Given the description of an element on the screen output the (x, y) to click on. 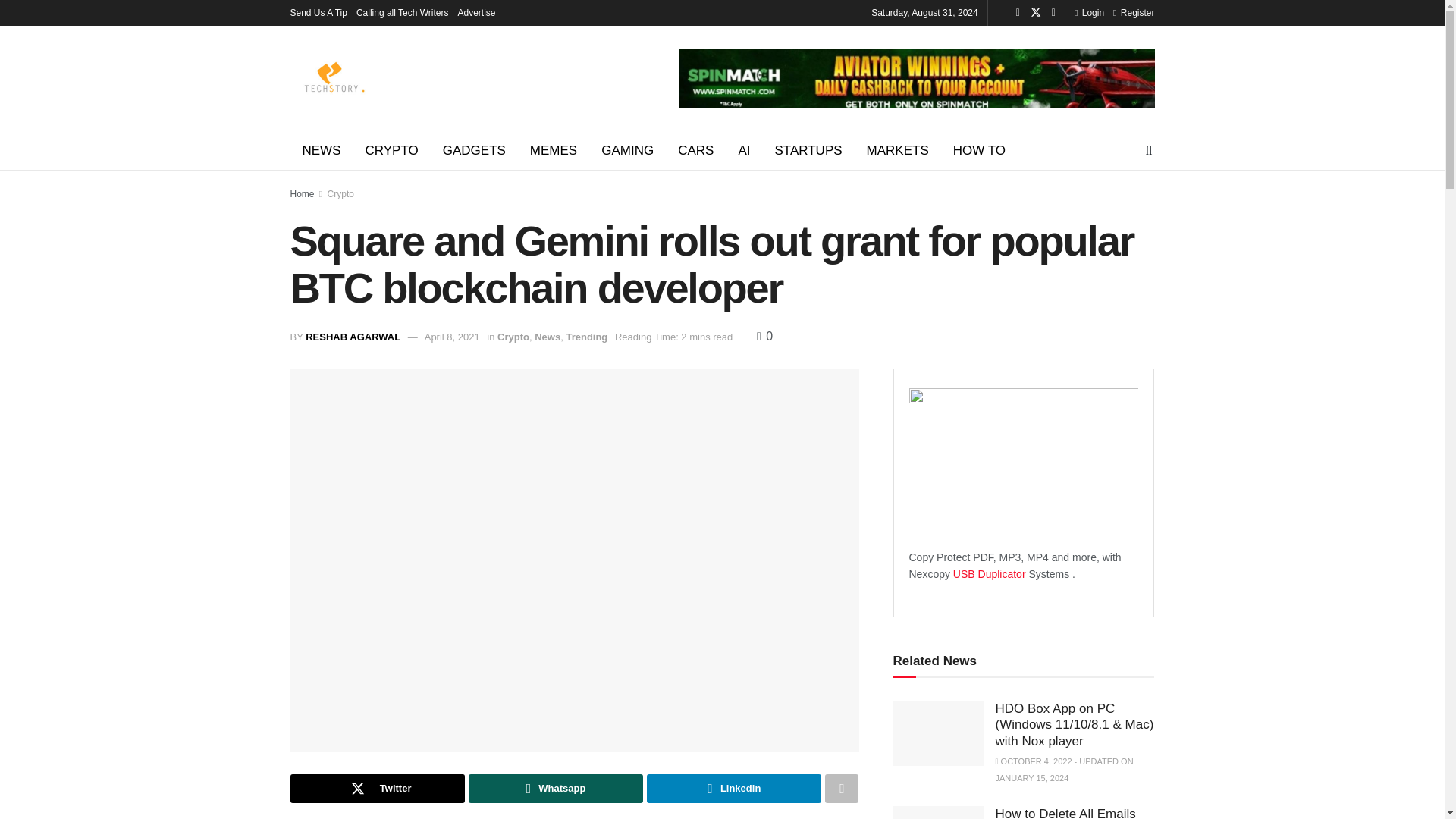
Register (1133, 12)
Send Us A Tip (317, 12)
NEWS (320, 150)
AI (743, 150)
CRYPTO (391, 150)
GAMING (627, 150)
Advertise (477, 12)
GADGETS (474, 150)
Login (1088, 12)
USB duplicator (989, 573)
